Given the description of an element on the screen output the (x, y) to click on. 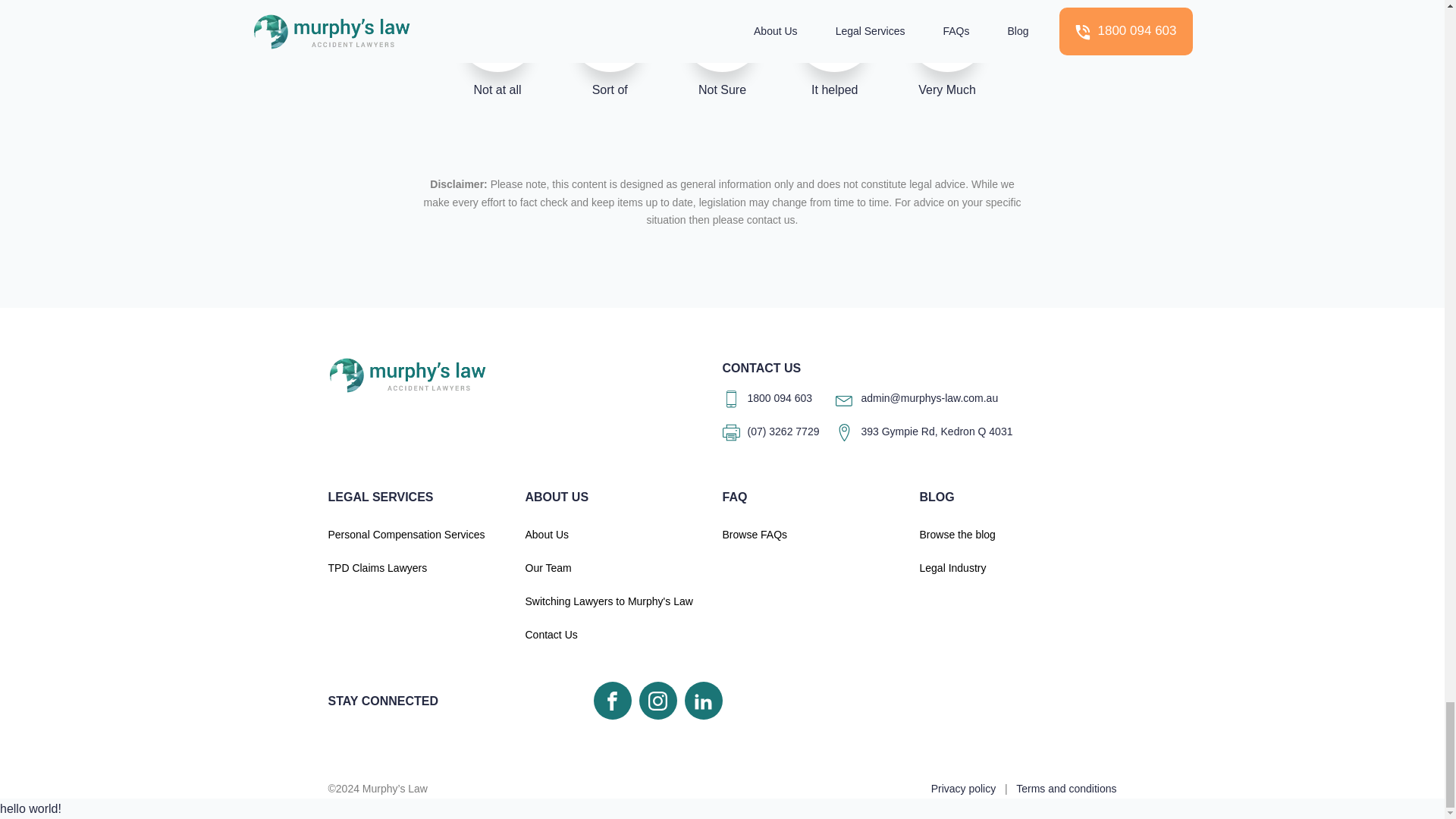
1800 094 603 (767, 398)
